Given the description of an element on the screen output the (x, y) to click on. 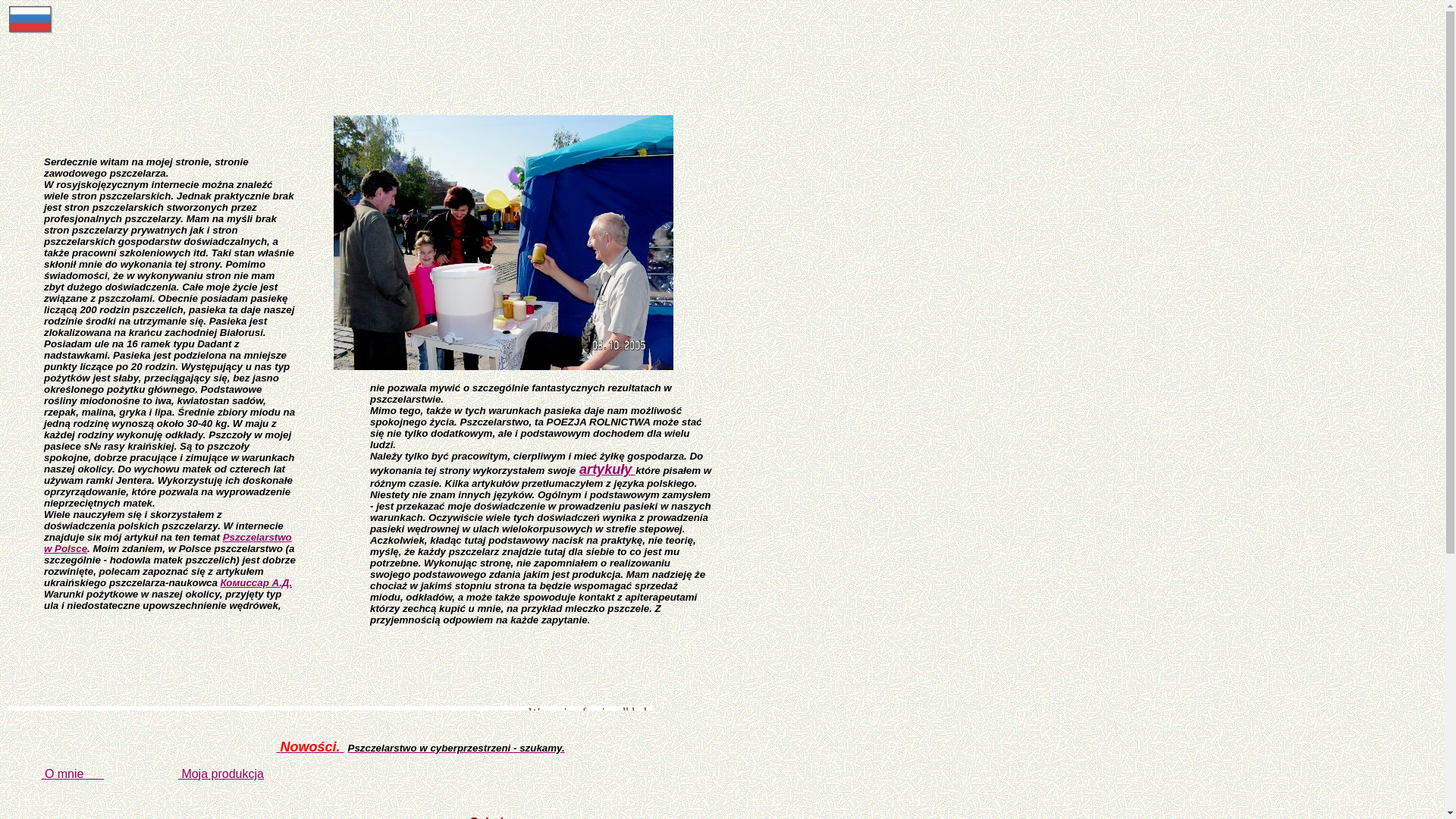
Pszczelarstwo w cyberprzestrzeni - szukamy. Element type: text (455, 746)
Moja produkcja Element type: text (220, 773)
Pszczelarstwo w Polsce Element type: text (167, 541)
O mnie       Element type: text (71, 773)
